Given the description of an element on the screen output the (x, y) to click on. 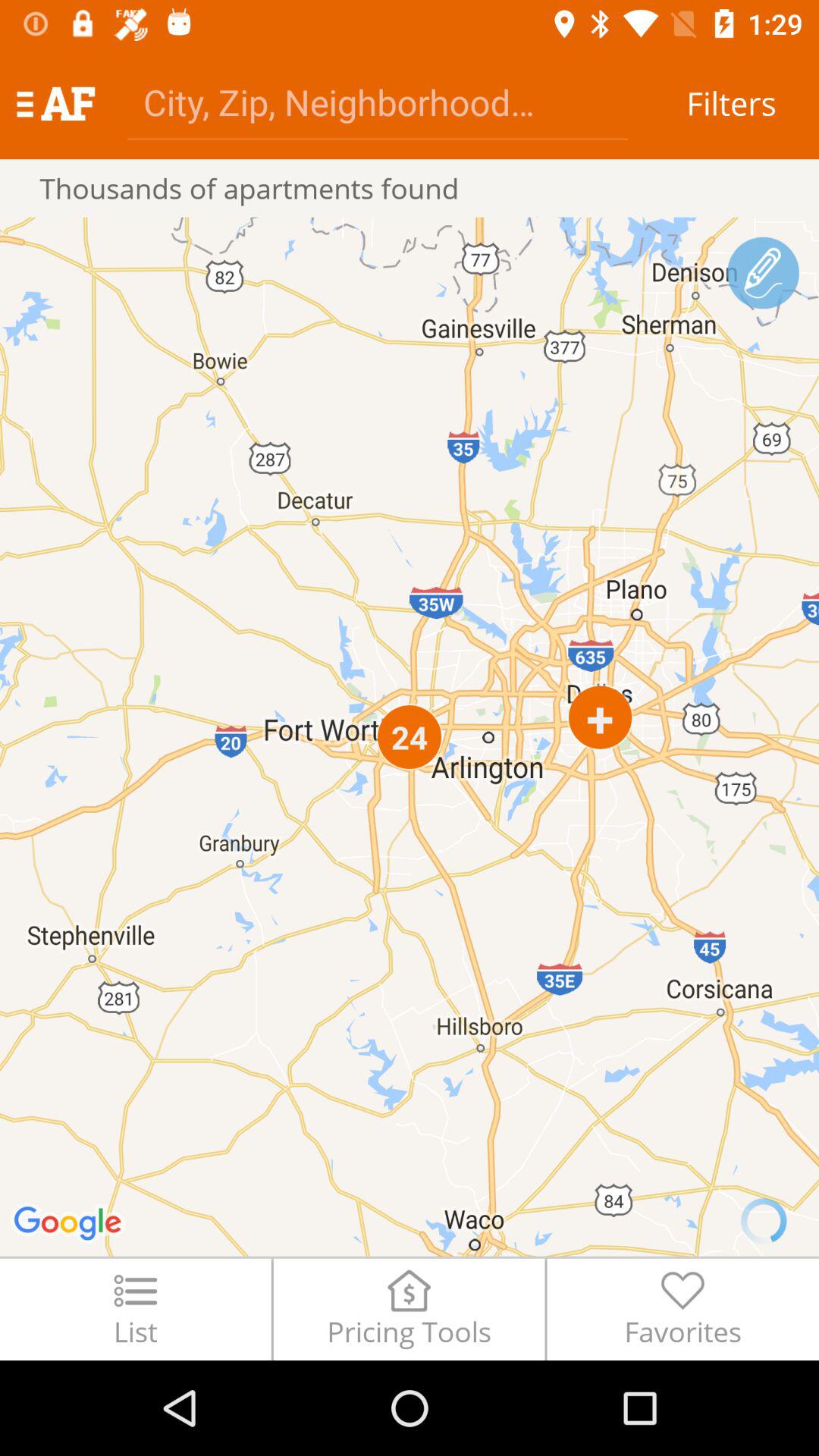
edit settings markers position etc (763, 272)
